Given the description of an element on the screen output the (x, y) to click on. 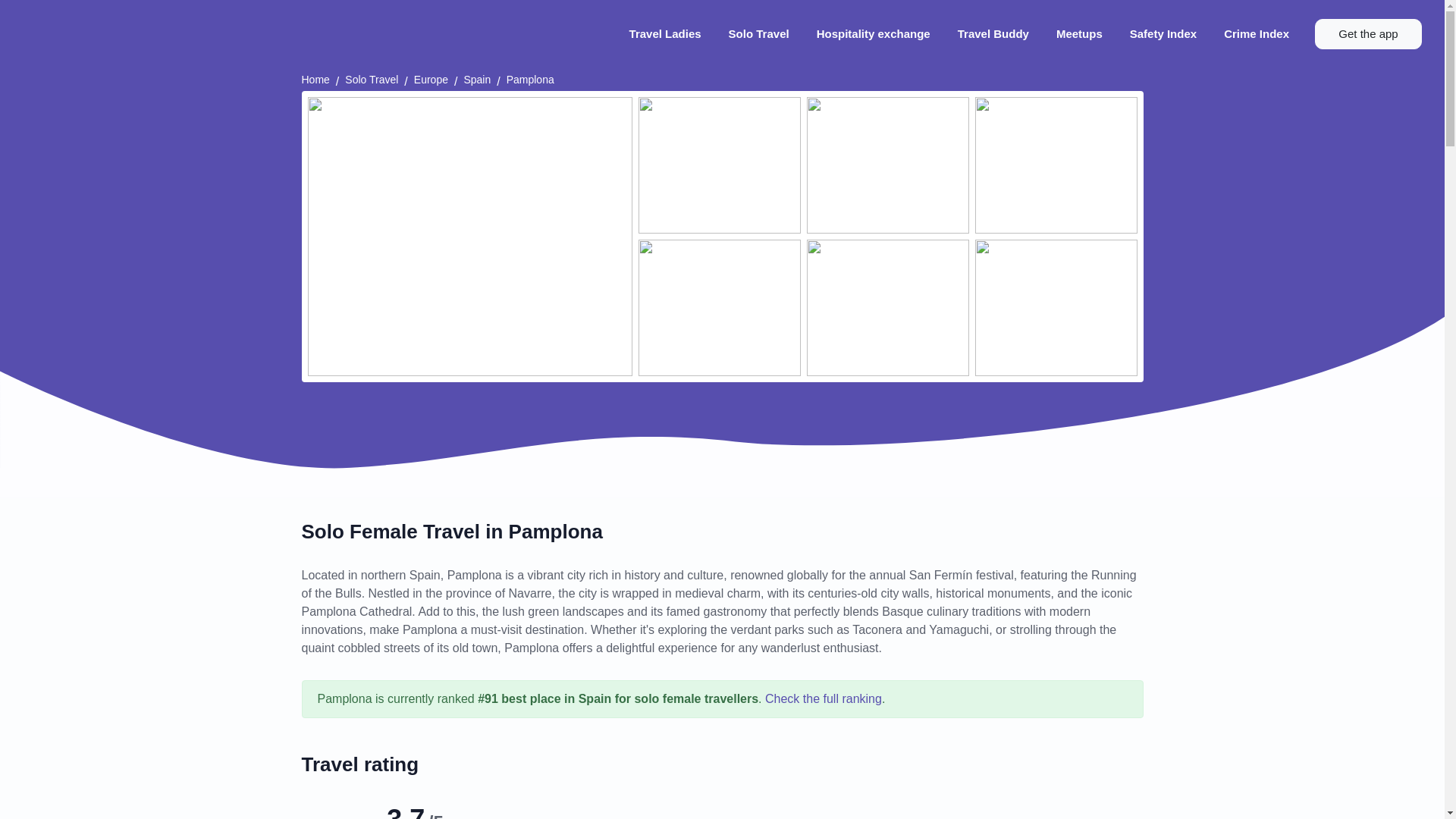
Get the app (1368, 33)
Home (315, 79)
Solo Travel (758, 34)
Spain (476, 79)
Check the full ranking (823, 698)
Hospitality exchange (873, 34)
Pamplona (530, 79)
Solo Travel (371, 79)
Safety Index (1162, 34)
Travel Ladies (664, 34)
